Given the description of an element on the screen output the (x, y) to click on. 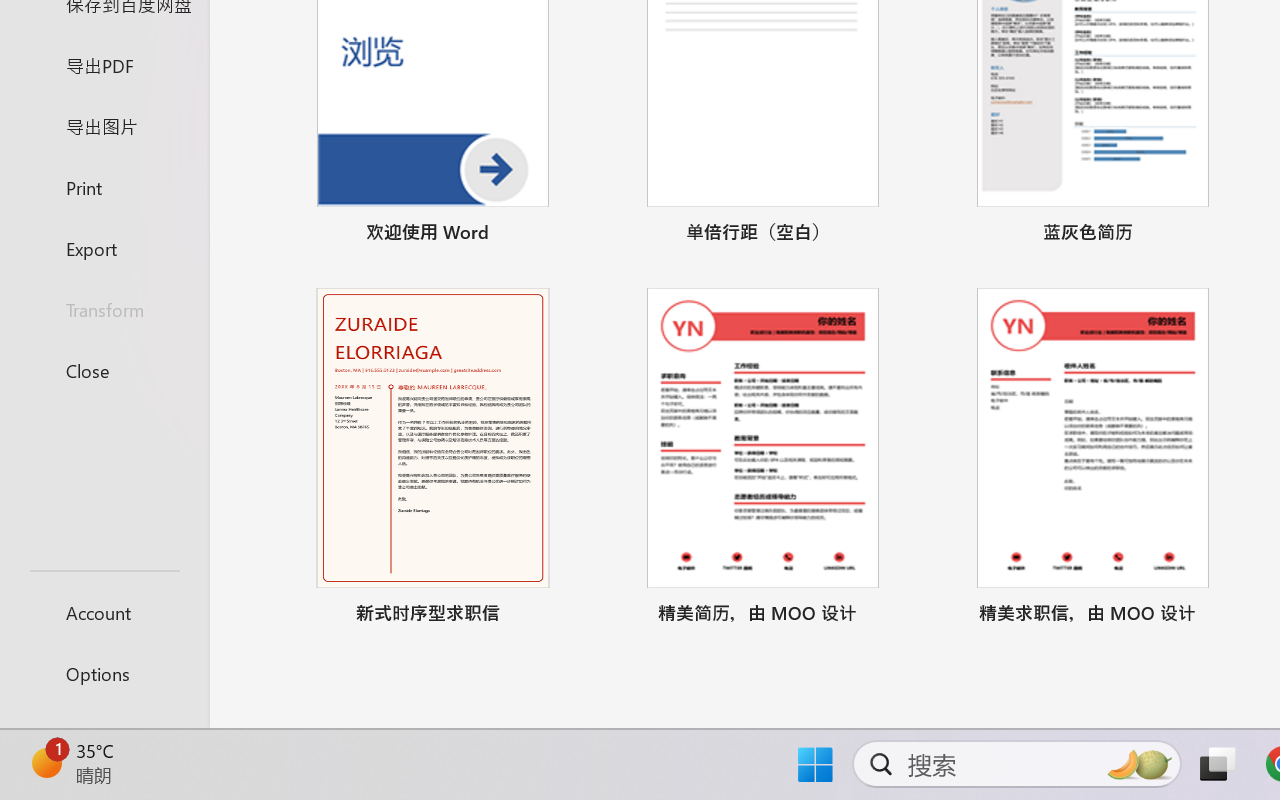
Transform (104, 309)
Options (104, 673)
Account (104, 612)
Pin to list (1223, 616)
Print (104, 186)
